Given the description of an element on the screen output the (x, y) to click on. 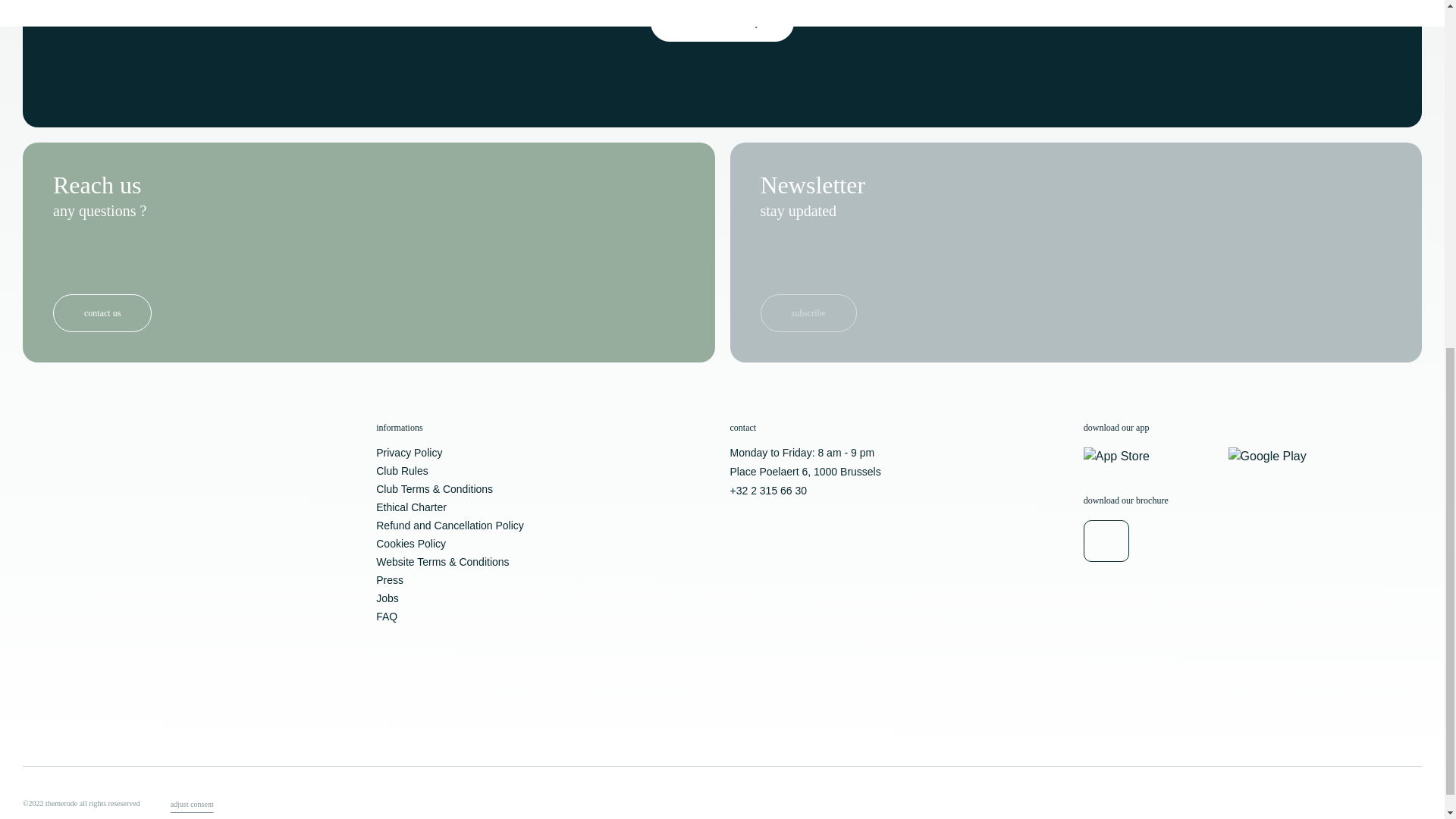
contact us (101, 313)
Cookies Policy (410, 543)
adjust consent (192, 803)
Refund and Cancellation Policy (449, 525)
Privacy Policy (408, 452)
FAQ (386, 616)
Press (389, 580)
Jobs (386, 598)
Club Rules (401, 470)
subscribe (808, 313)
Ethical Charter (410, 507)
discover memberships (722, 22)
